Given the description of an element on the screen output the (x, y) to click on. 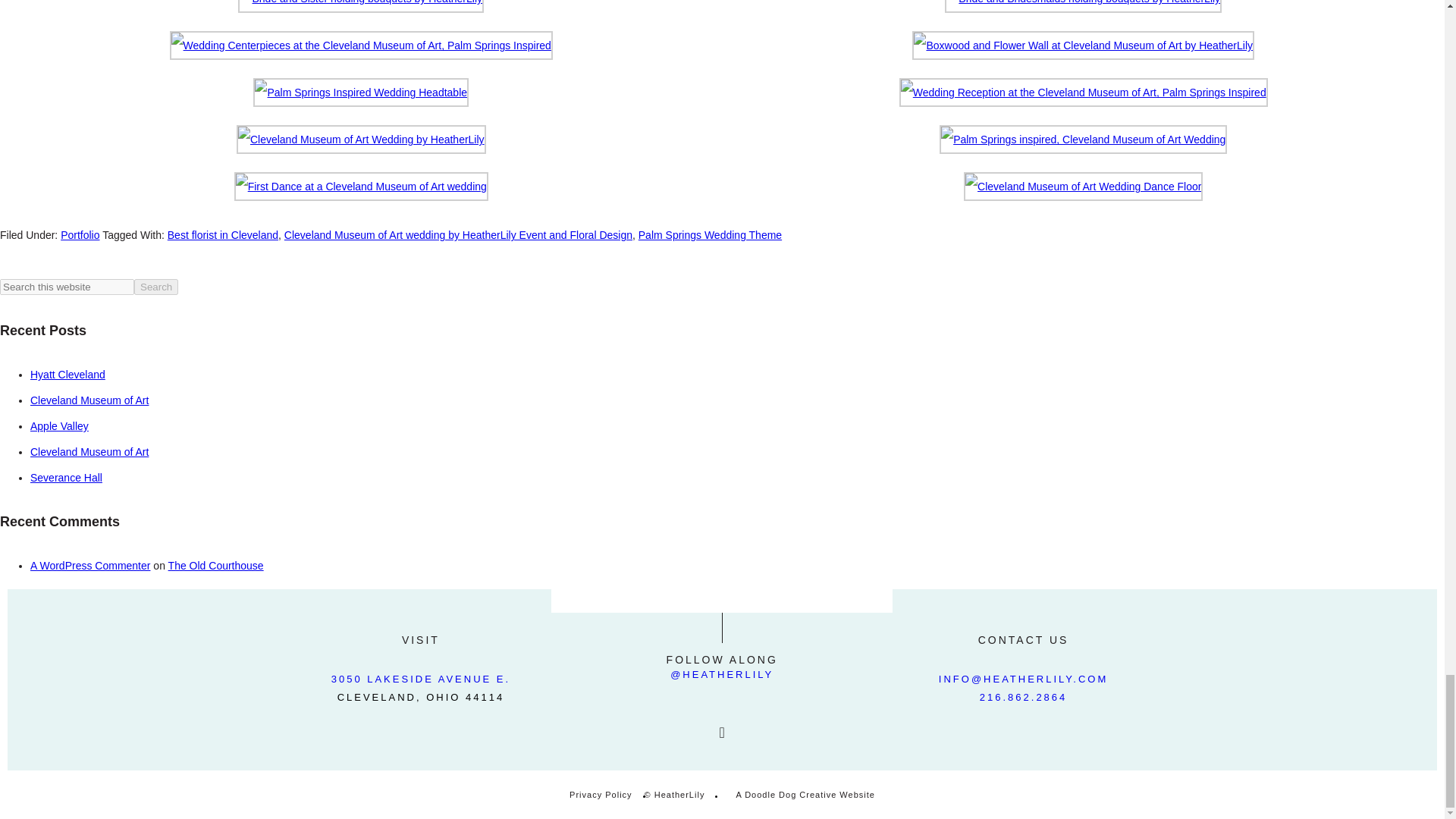
Search (155, 286)
Search (155, 286)
